Given the description of an element on the screen output the (x, y) to click on. 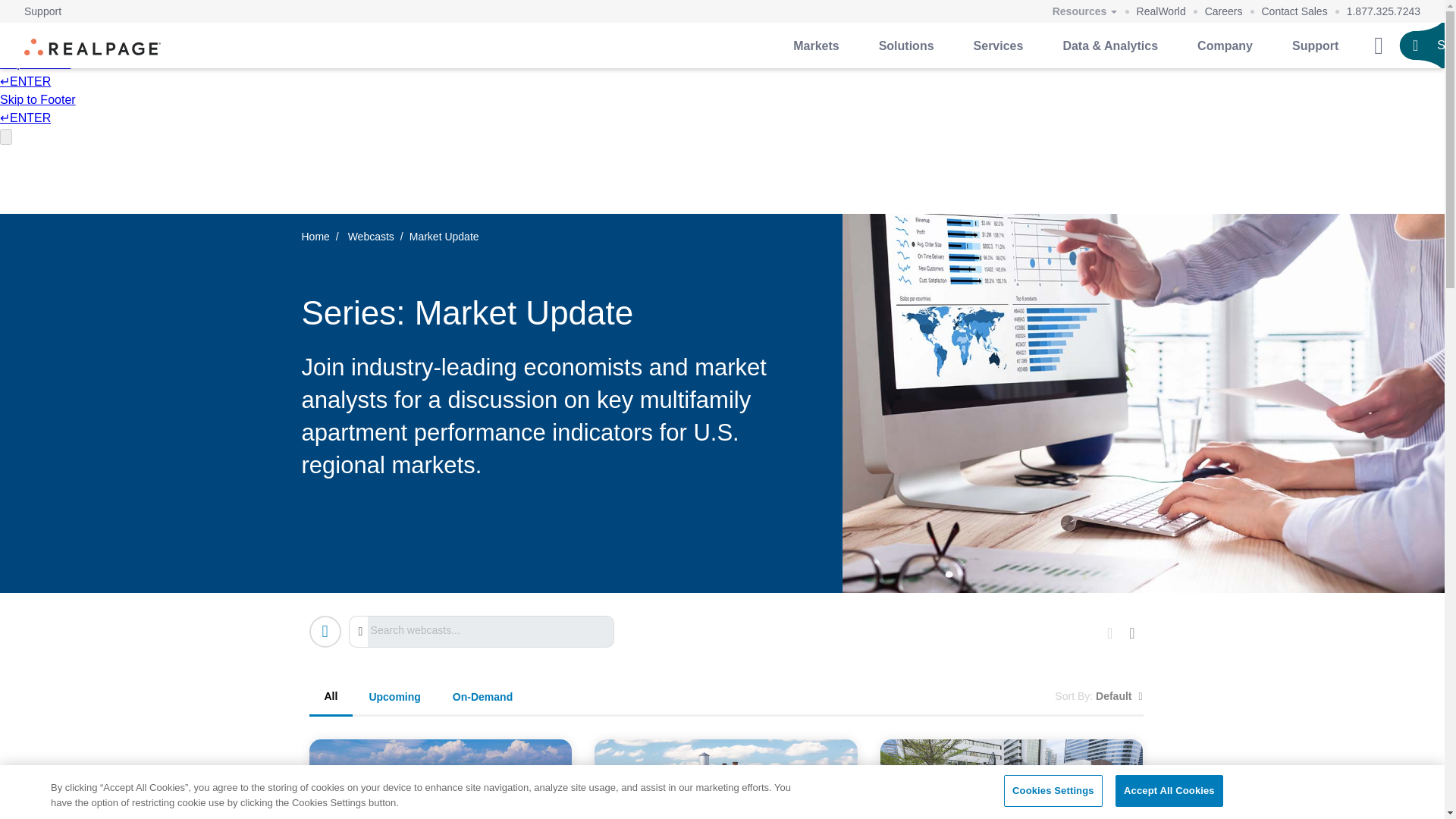
Careers (1224, 11)
Support (42, 11)
Contact Sales (1294, 11)
RealWorld (1161, 11)
Solutions (906, 44)
RealWorld (1161, 11)
Contact Sales (1294, 11)
Careers (1224, 11)
Support (42, 11)
1.877.325.7243 (1383, 11)
Resources (1084, 11)
Markets (816, 44)
